Given the description of an element on the screen output the (x, y) to click on. 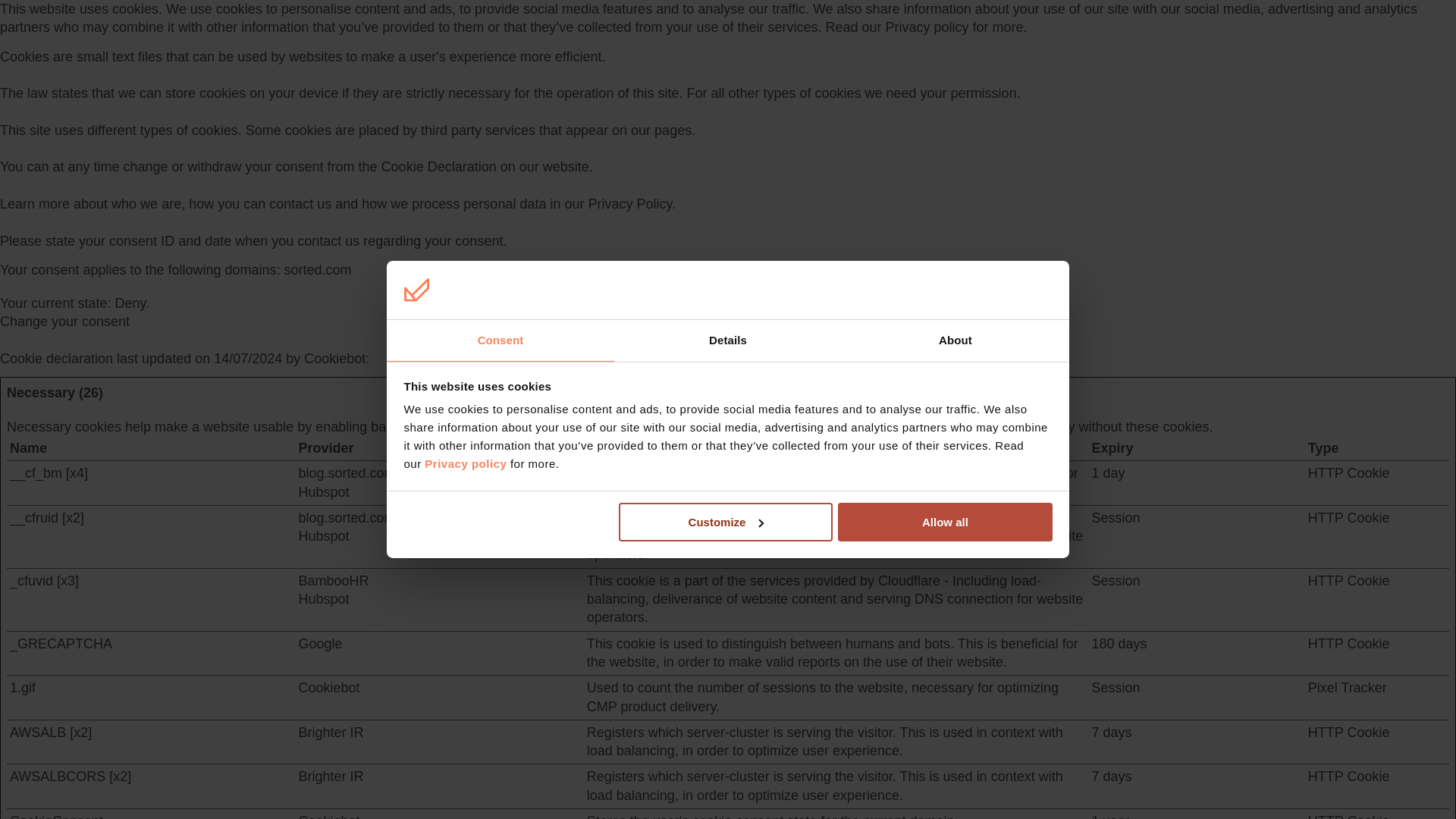
Cookiebot (328, 687)
Privacy policy (927, 27)
Change your consent (64, 321)
Brighter IR's privacy policy (330, 732)
Google's privacy policy (320, 643)
Hubspot (323, 535)
Google (320, 643)
Cookiebot's privacy policy (328, 816)
Cookiebot (334, 358)
BambooHR (333, 580)
Hubspot (323, 598)
Hubspot's privacy policy (323, 598)
Brighter IR (330, 776)
Brighter IR (330, 732)
Hubspot's privacy policy (323, 491)
